Given the description of an element on the screen output the (x, y) to click on. 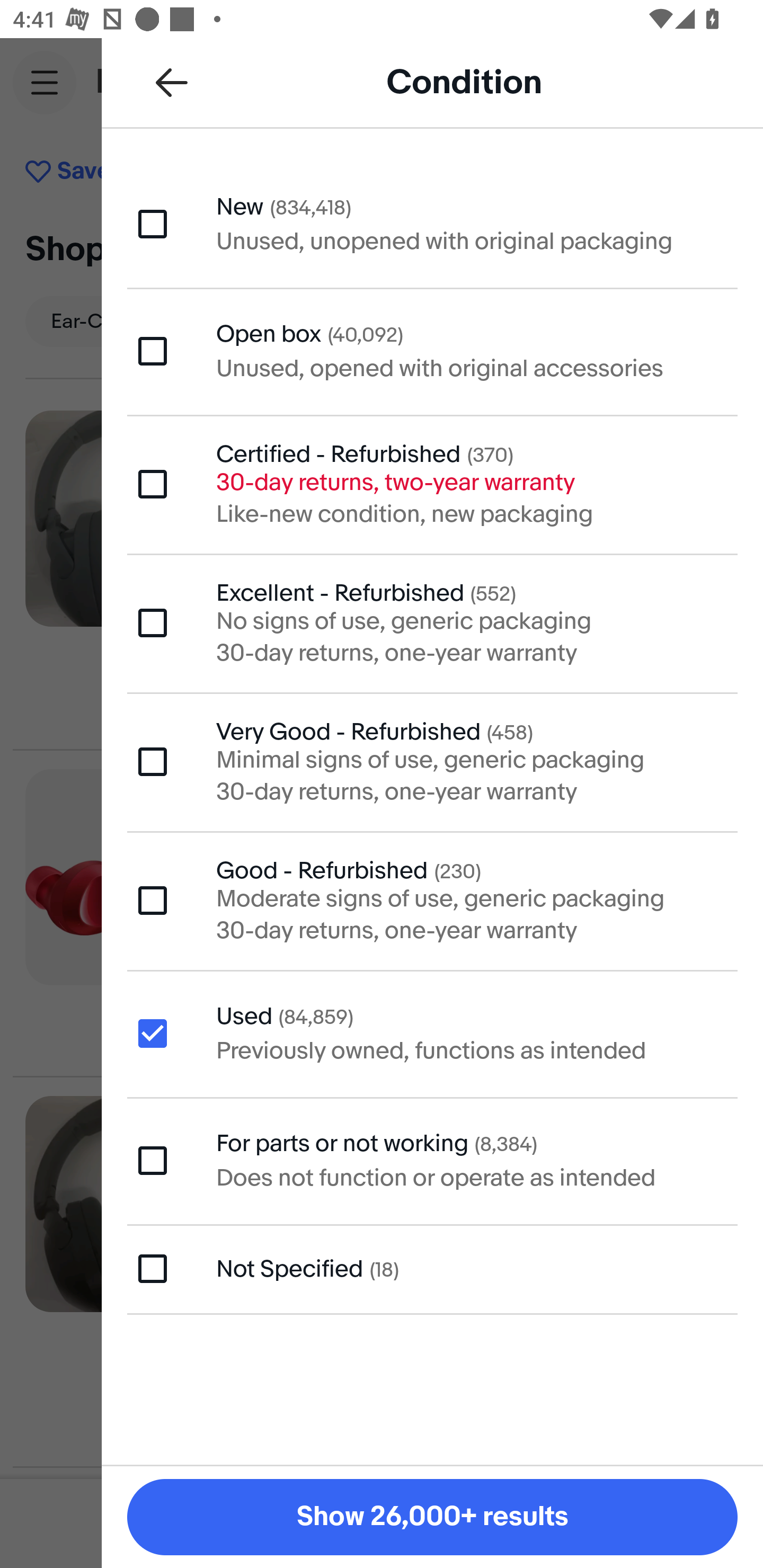
Back to all refinements (171, 81)
Not Specified (18) (432, 1268)
Show 26,000+ results (432, 1516)
